Given the description of an element on the screen output the (x, y) to click on. 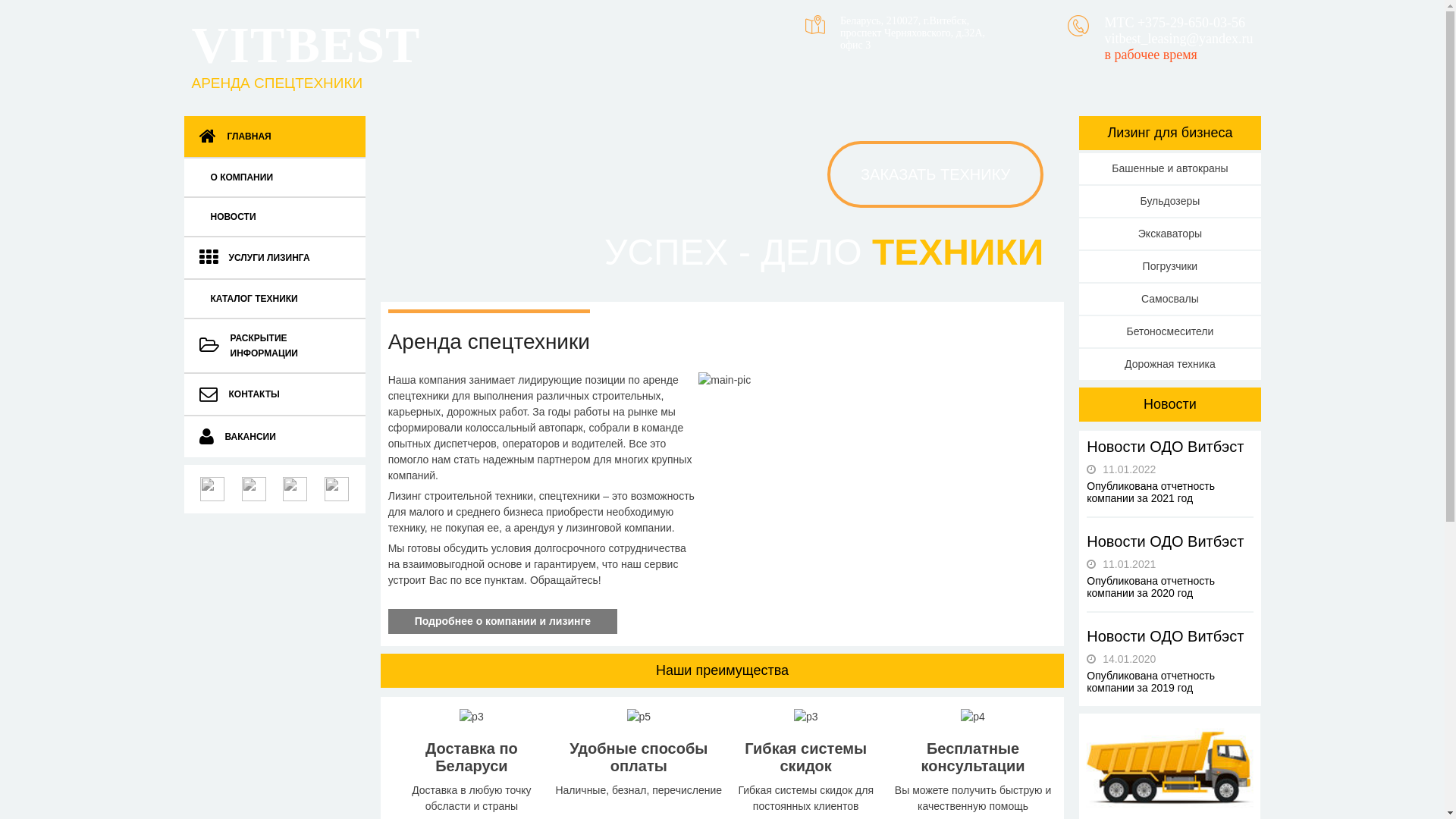
VITBEST Element type: text (305, 44)
